Given the description of an element on the screen output the (x, y) to click on. 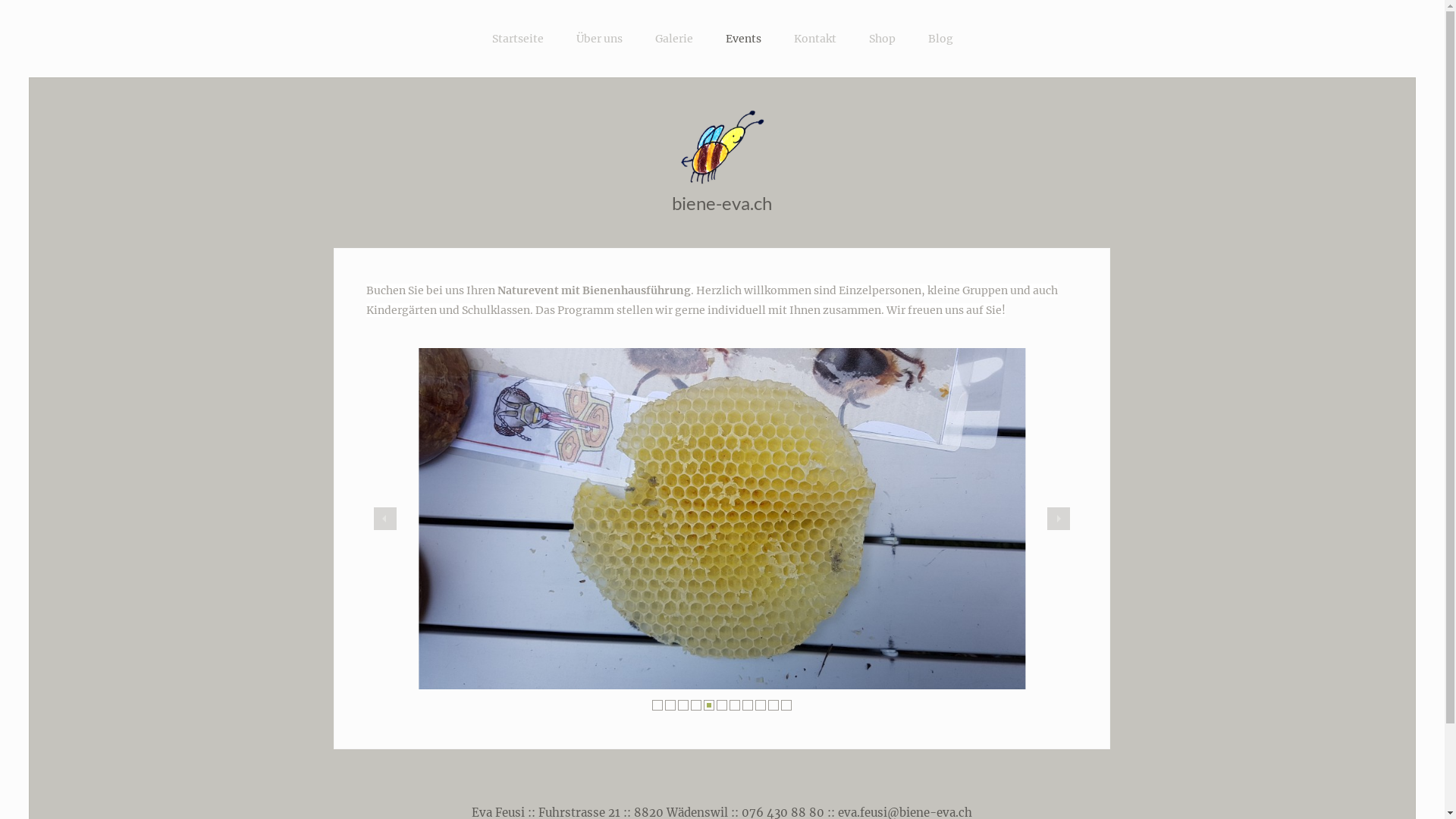
Startseite Element type: text (517, 38)
Kontakt Element type: text (814, 38)
Events Element type: text (742, 38)
biene-eva.ch Element type: text (721, 202)
Galerie Element type: text (674, 38)
Blog Element type: text (940, 38)
Shop Element type: text (881, 38)
